Given the description of an element on the screen output the (x, y) to click on. 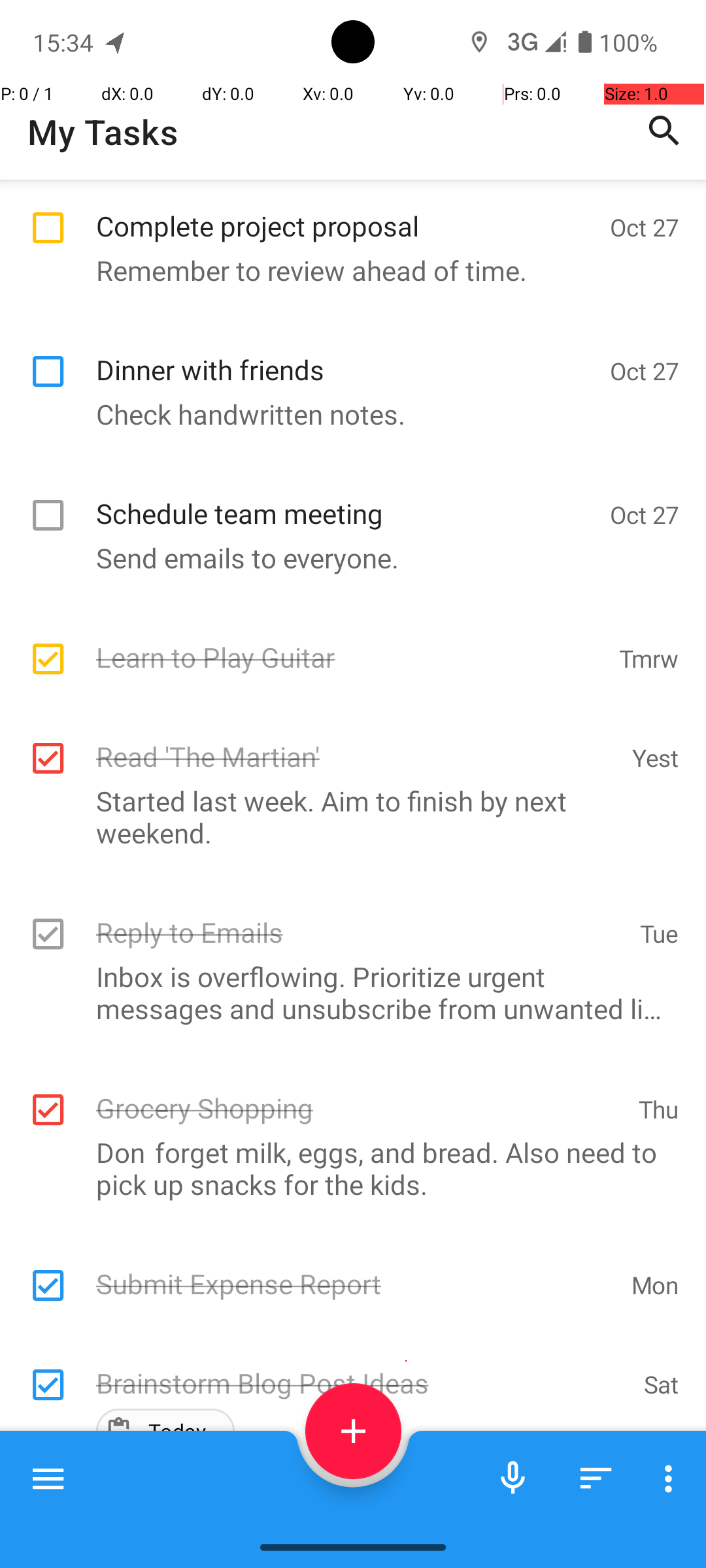
Complete project proposal Element type: android.widget.TextView (346, 211)
Remember to review ahead of time. Element type: android.widget.TextView (346, 269)
Oct 27 Element type: android.widget.TextView (644, 226)
Dinner with friends Element type: android.widget.TextView (346, 355)
Check handwritten notes. Element type: android.widget.TextView (346, 413)
Schedule team meeting Element type: android.widget.TextView (346, 499)
Send emails to everyone. Element type: android.widget.TextView (346, 557)
Started last week. Aim to finish by next weekend. Element type: android.widget.TextView (346, 816)
Inbox is overflowing. Prioritize urgent messages and unsubscribe from unwanted lists. Element type: android.widget.TextView (346, 992)
Don	 forget milk, eggs, and bread. Also need to pick up snacks for the kids. Element type: android.widget.TextView (346, 1167)
Brainstorm Blog Post Ideas Element type: android.widget.TextView (363, 1368)
